Given the description of an element on the screen output the (x, y) to click on. 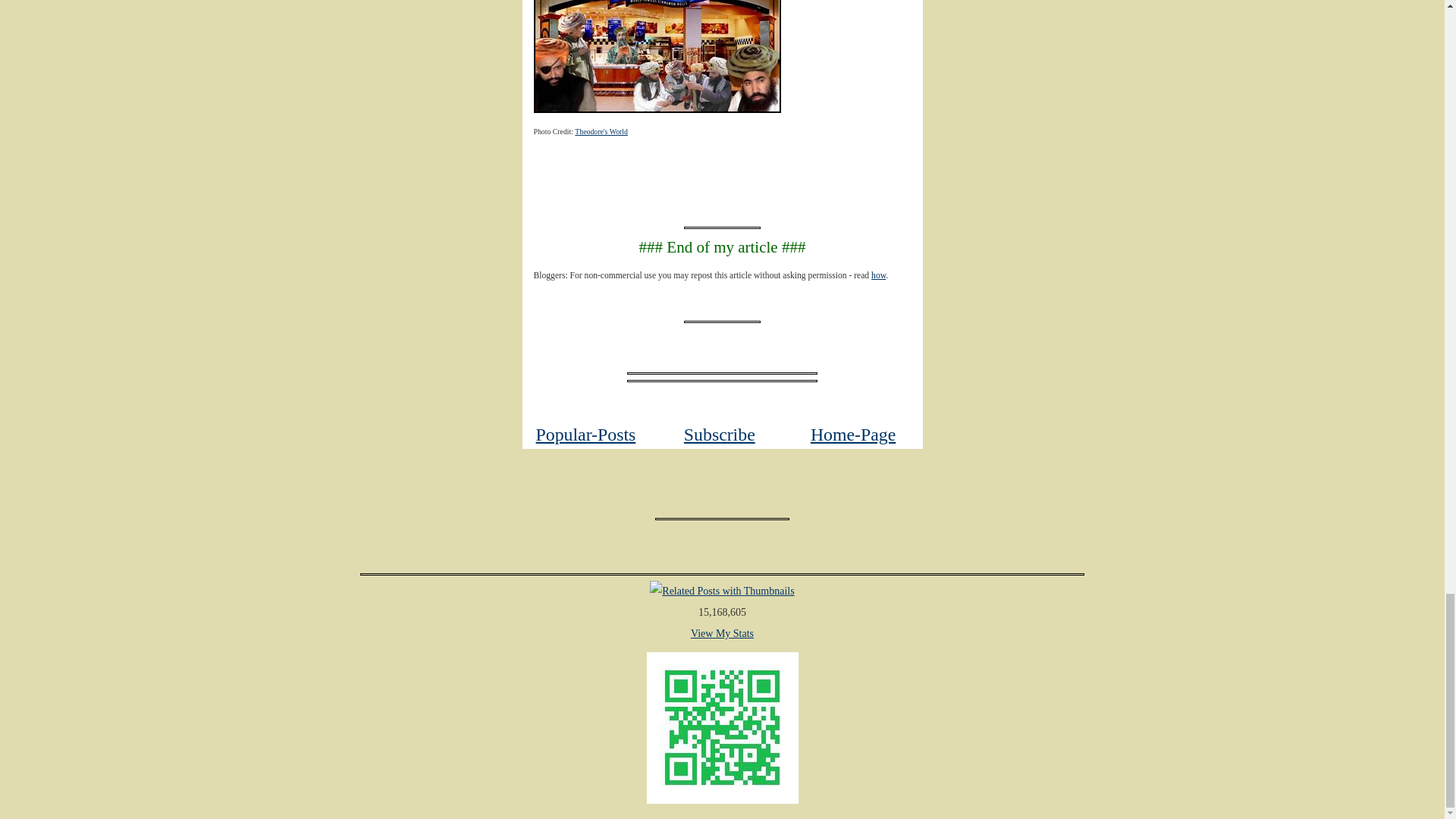
Theodore's World (601, 131)
Subscribe (719, 434)
View My Stats (722, 633)
Popular-Posts (585, 434)
Home-Page (852, 434)
how (877, 275)
